Given the description of an element on the screen output the (x, y) to click on. 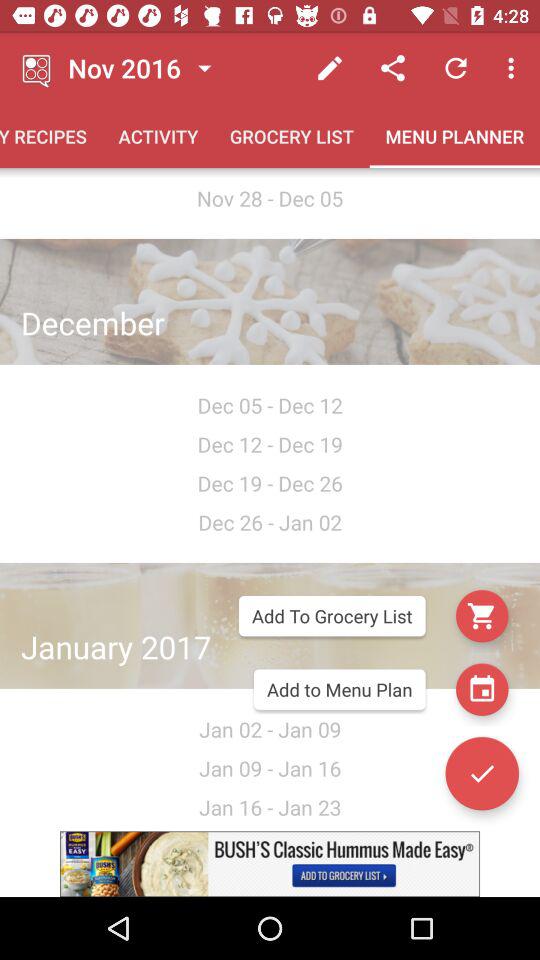
advertisement (270, 864)
